Given the description of an element on the screen output the (x, y) to click on. 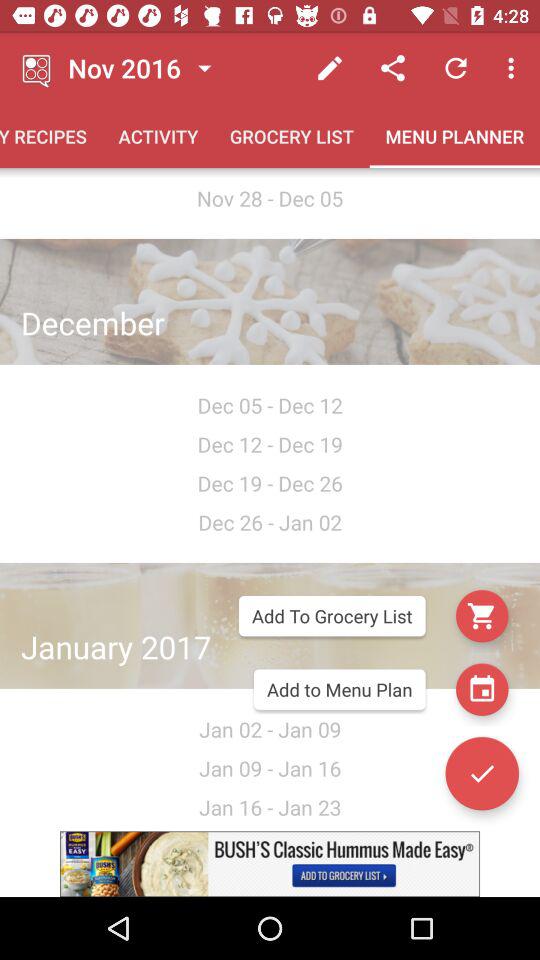
advertisement (270, 864)
